Given the description of an element on the screen output the (x, y) to click on. 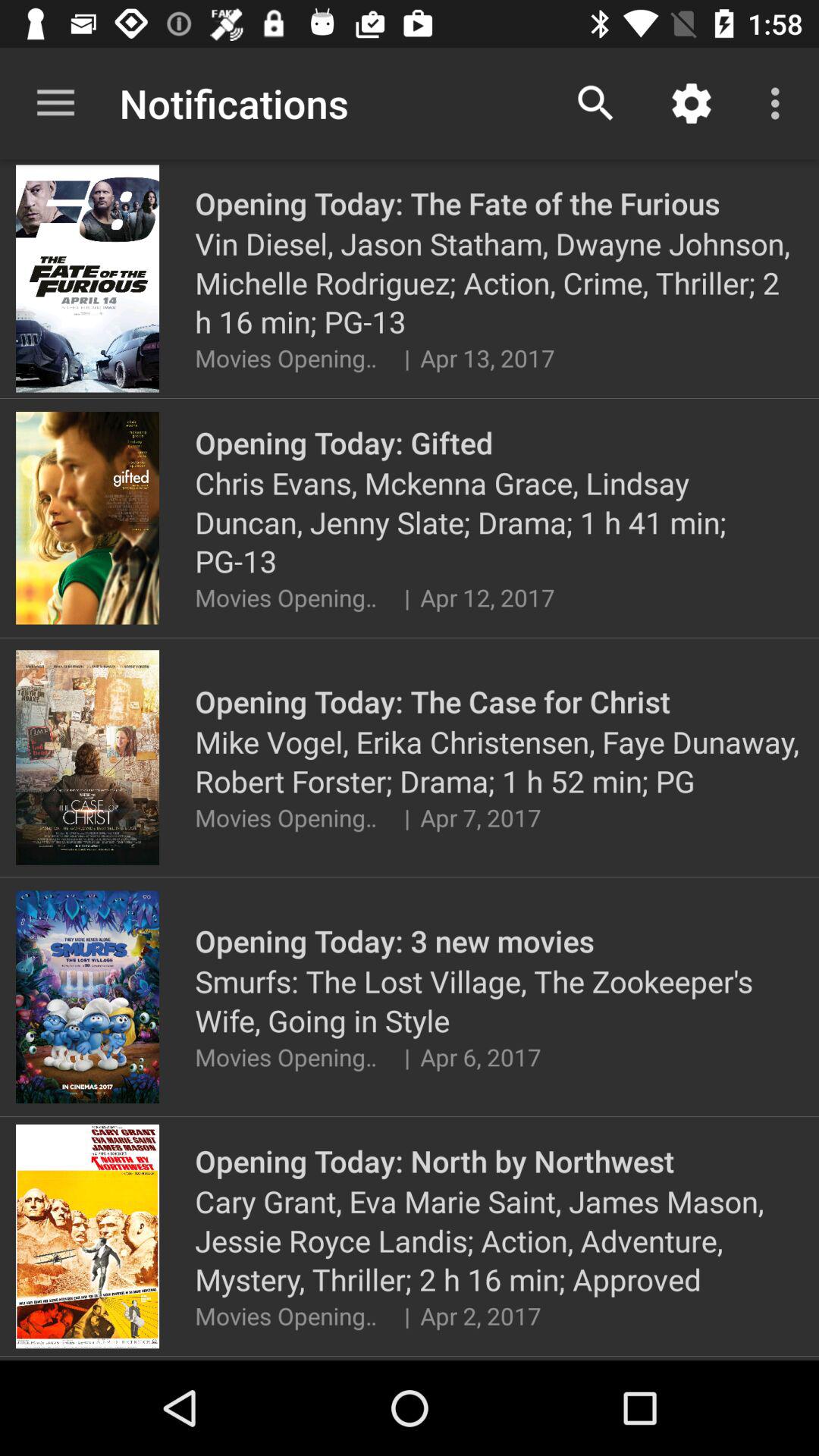
press item above opening today 3 (407, 817)
